Given the description of an element on the screen output the (x, y) to click on. 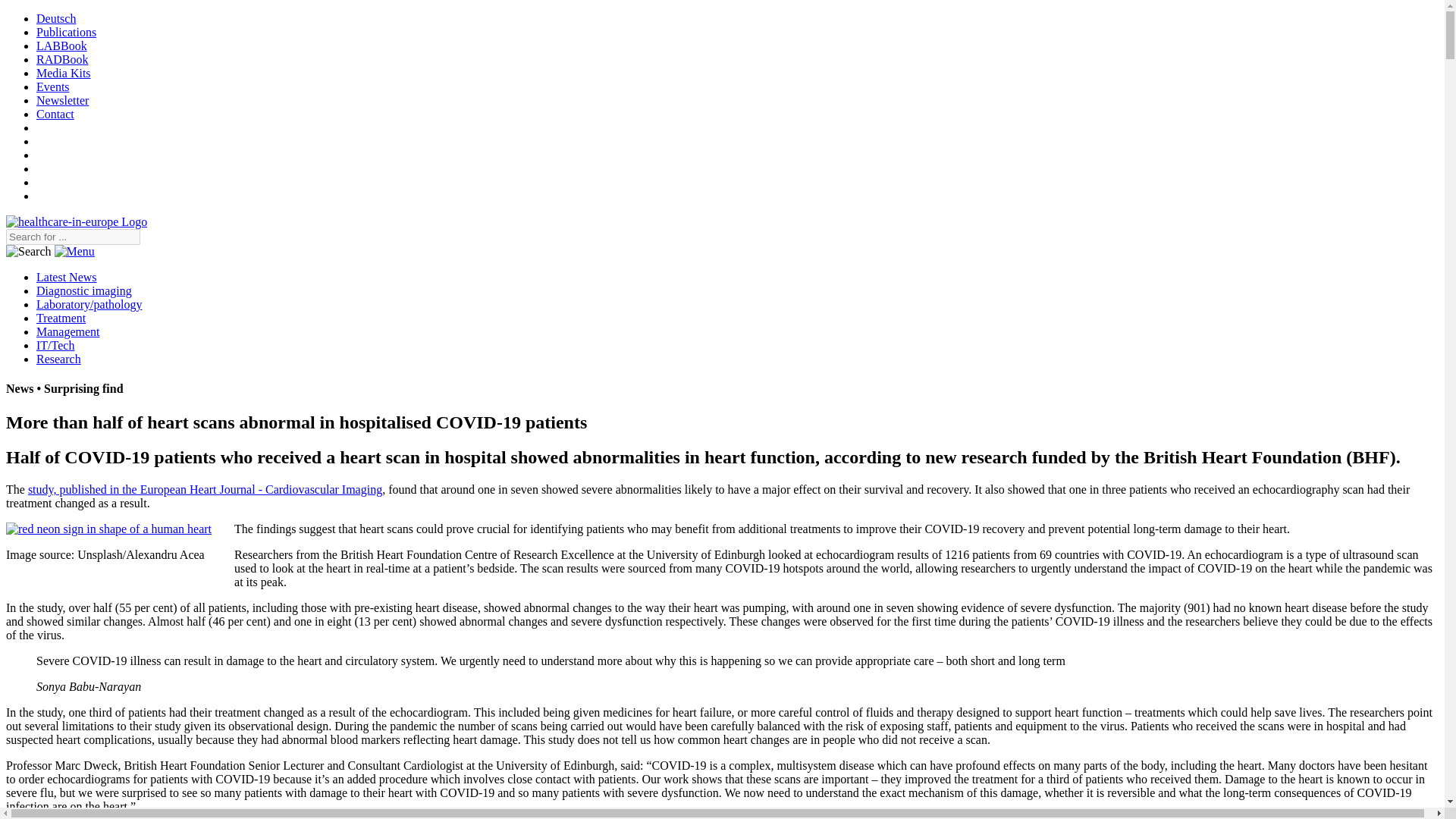
RADBook (61, 59)
Management (68, 331)
Latest News (66, 277)
LABBook (61, 45)
Media Kits (63, 72)
Publications (66, 31)
Research (58, 358)
Newsletter (62, 100)
Contact (55, 113)
Deutsch (55, 18)
Treatment (60, 318)
Diagnostic imaging (84, 290)
Events (52, 86)
